Given the description of an element on the screen output the (x, y) to click on. 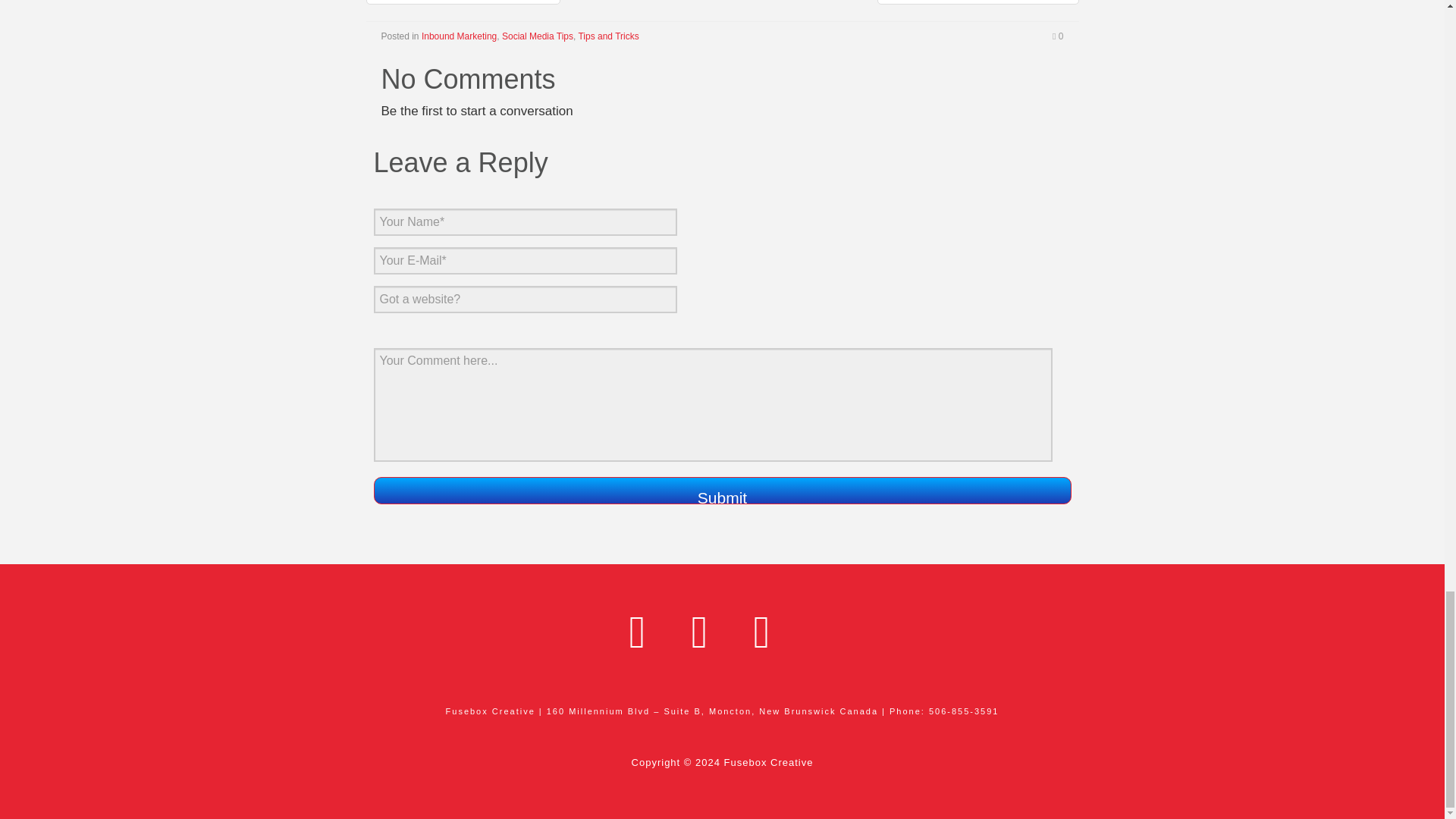
Submit (721, 490)
Social Media Tips (537, 36)
0 (1057, 36)
Tips and Tricks (608, 36)
Submit (721, 490)
Inbound Marketing (459, 36)
